Given the description of an element on the screen output the (x, y) to click on. 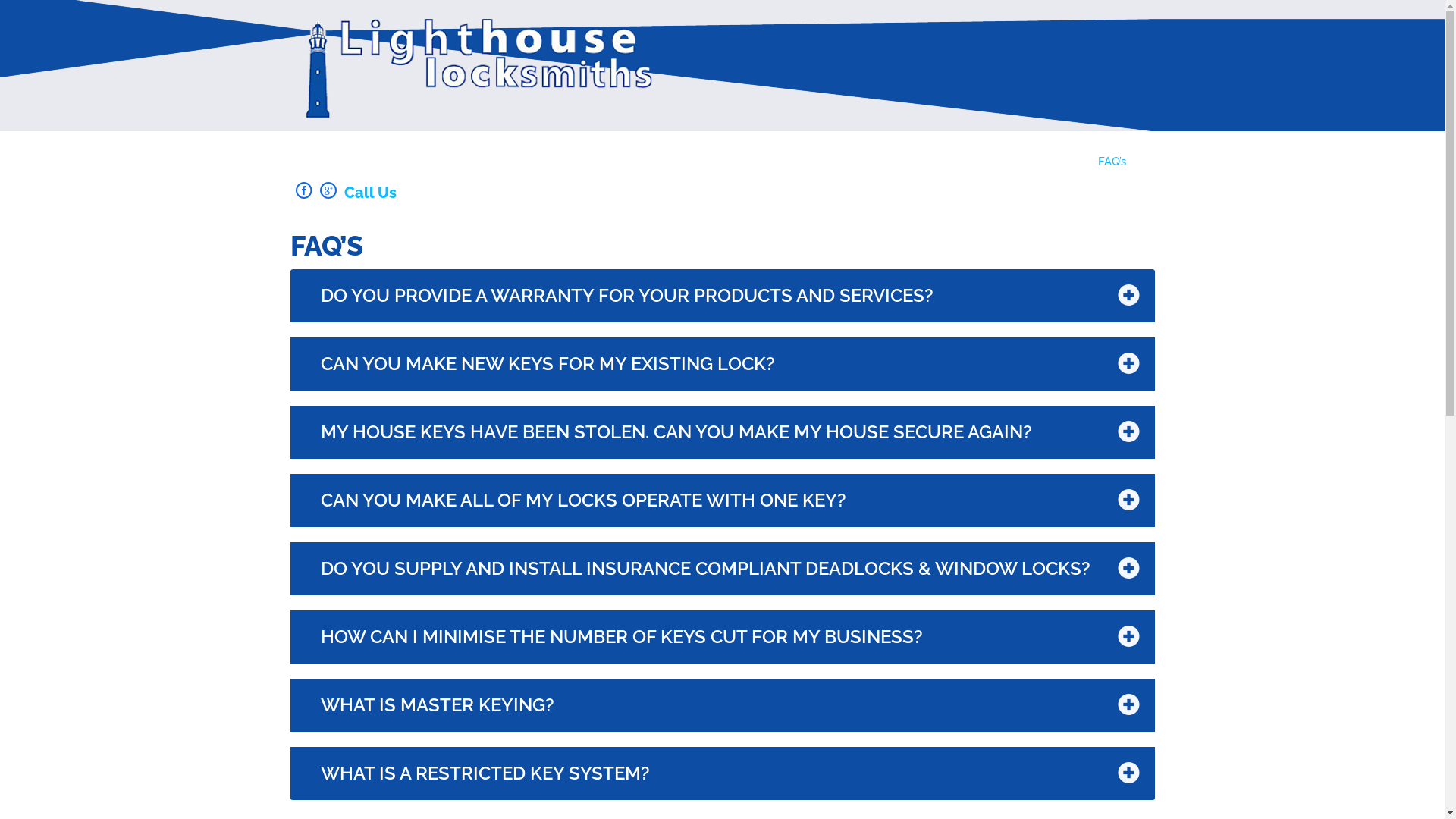
Call Us Element type: text (372, 192)
Products Element type: text (978, 161)
About Us Element type: text (856, 161)
Home Element type: text (801, 161)
Services Element type: text (917, 161)
Contact Element type: text (1161, 161)
Lighthouse Locksmiths Element type: hover (463, 68)
Latest News Element type: text (1049, 161)
(08) 9455 3083 Element type: text (452, 192)
